Given the description of an element on the screen output the (x, y) to click on. 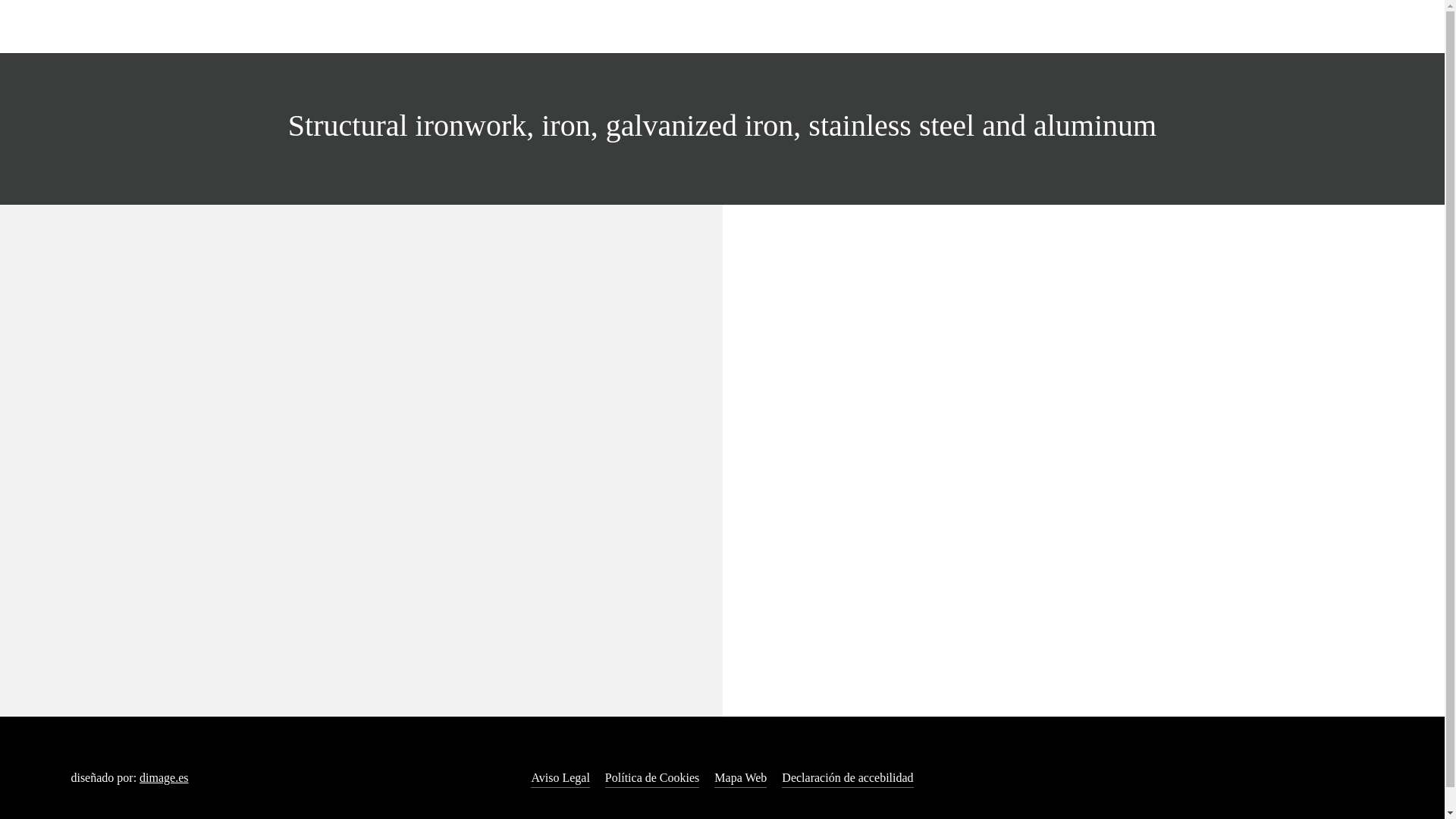
Mapa Web (740, 777)
dimage.es (163, 777)
Aviso Legal (560, 777)
